Given the description of an element on the screen output the (x, y) to click on. 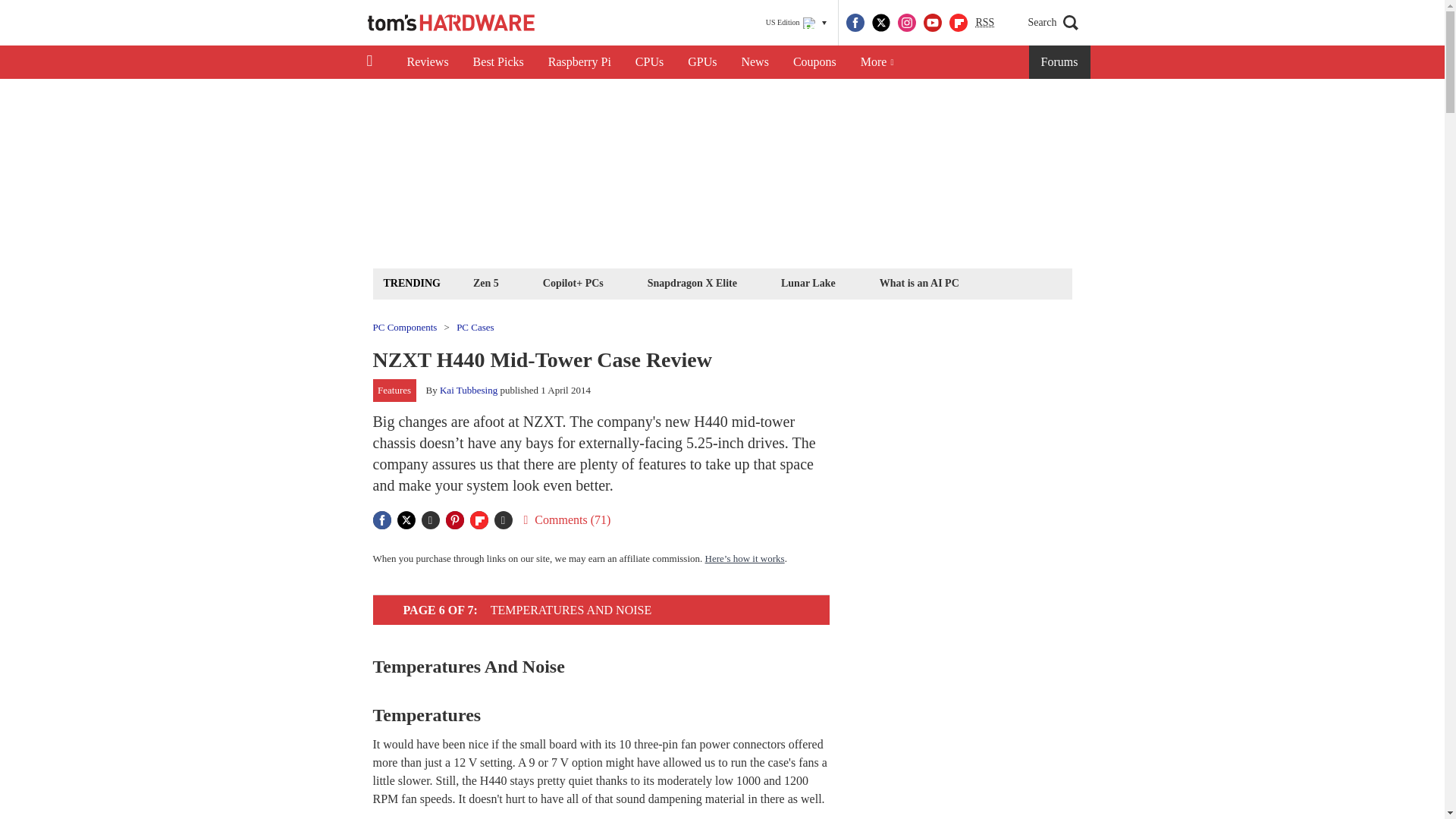
Reviews (427, 61)
Raspberry Pi (579, 61)
News (754, 61)
US Edition (796, 22)
GPUs (702, 61)
CPUs (649, 61)
Best Picks (498, 61)
Zen 5 (485, 282)
Coupons (814, 61)
Really Simple Syndication (984, 21)
RSS (984, 22)
Forums (1059, 61)
